Given the description of an element on the screen output the (x, y) to click on. 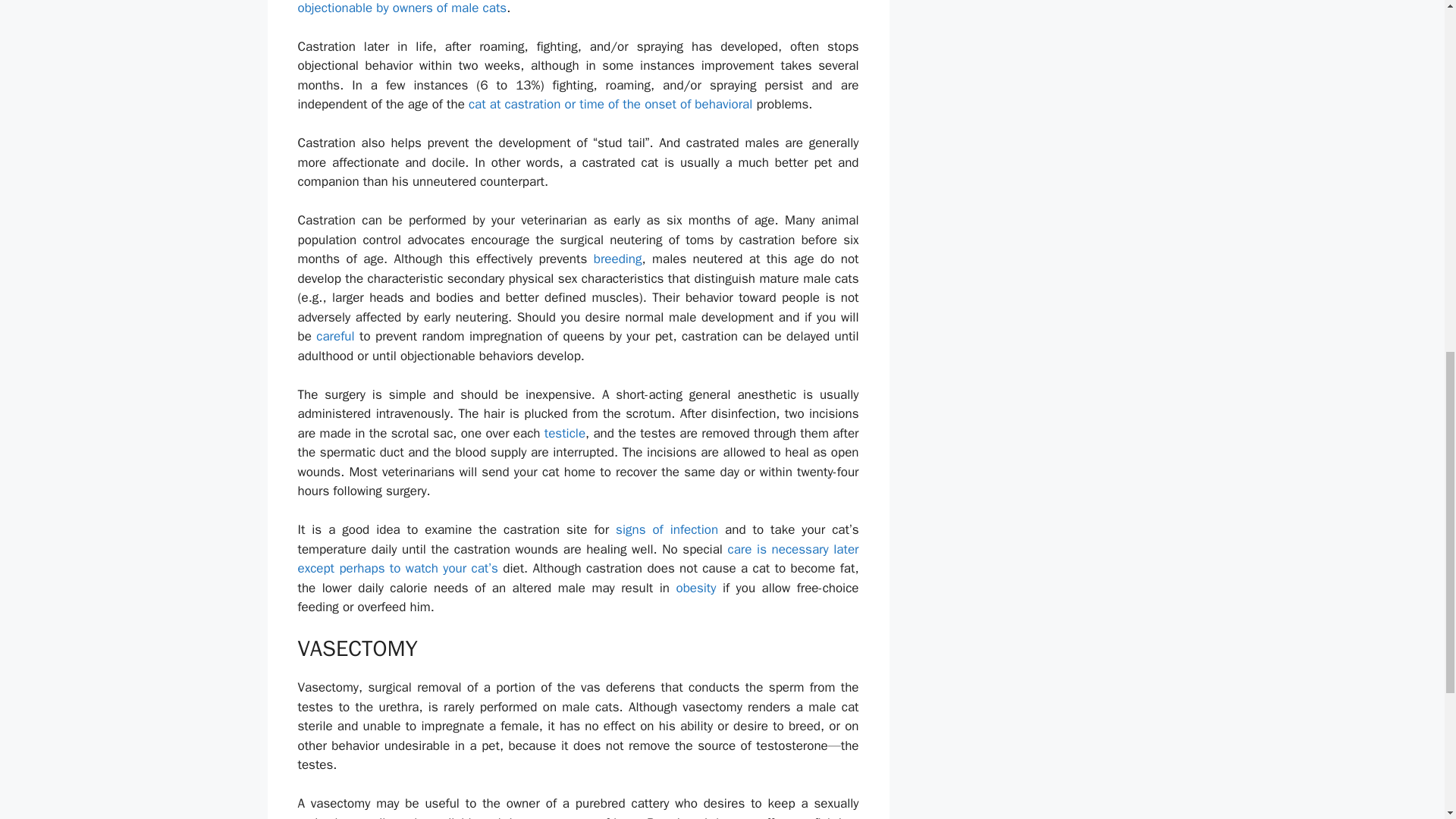
cat at castration or time of the onset of behavioral (610, 104)
signs of infection (666, 529)
obesity (695, 587)
breeding (618, 258)
careful (334, 335)
testicle (564, 433)
